Given the description of an element on the screen output the (x, y) to click on. 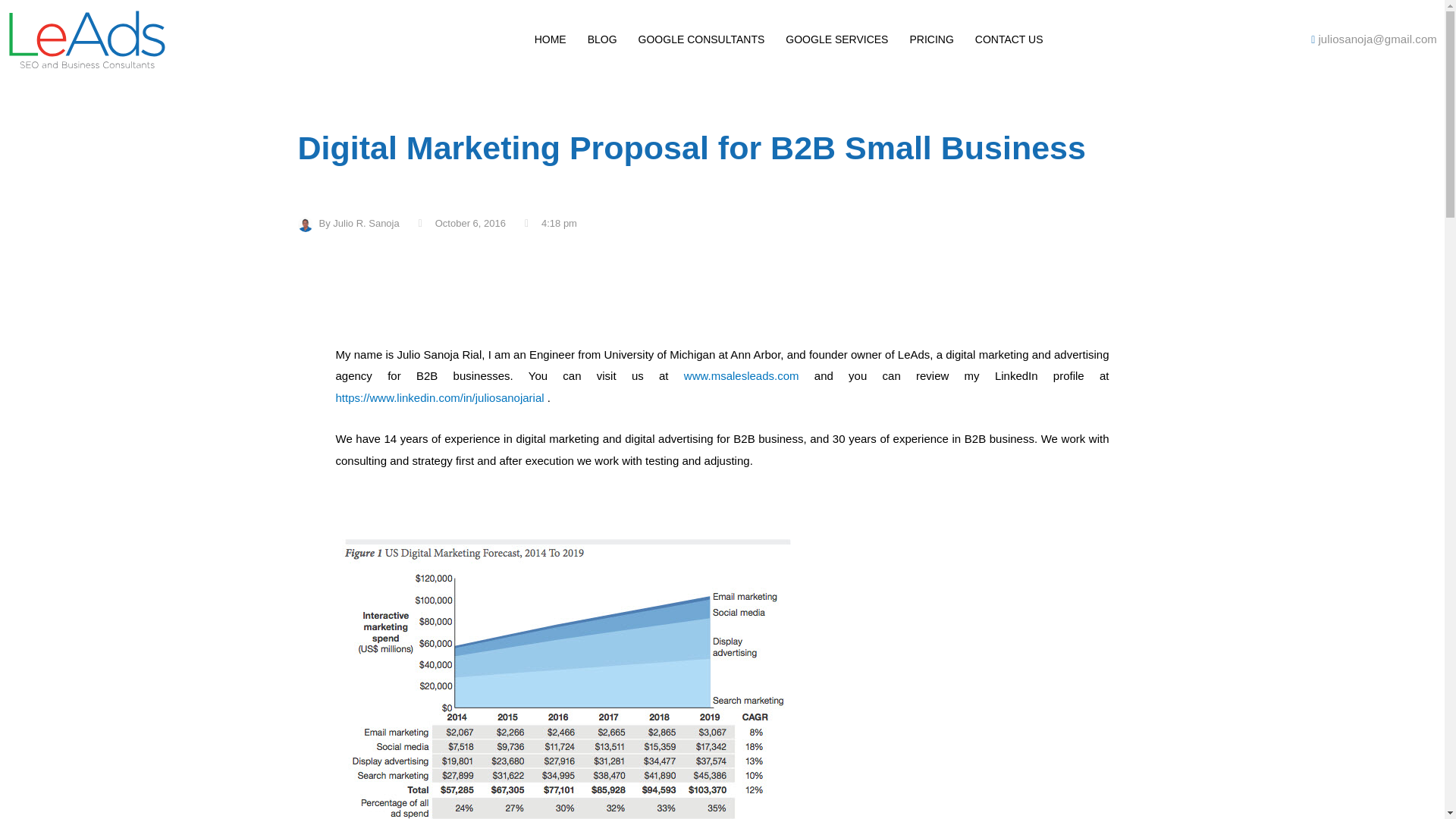
CONTACT US (1008, 39)
www.msalesleads.com (741, 375)
PRICING (930, 39)
BLOG (601, 39)
HOME (550, 39)
GOOGLE SERVICES (836, 39)
GOOGLE CONSULTANTS (701, 39)
